Given the description of an element on the screen output the (x, y) to click on. 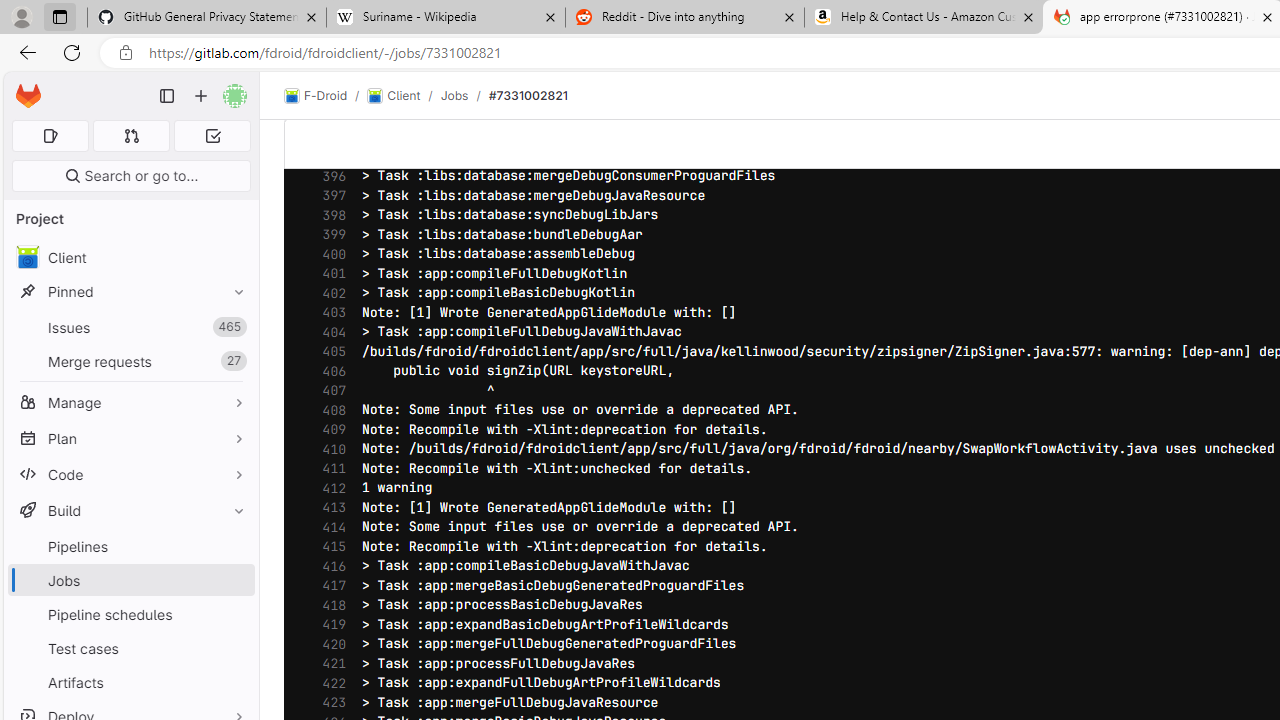
Issues 465 (130, 327)
406 (329, 371)
Create new... (201, 96)
Merge requests 0 (131, 136)
Test cases (130, 648)
421 (329, 663)
400 (329, 254)
403 (329, 313)
Plan (130, 438)
Pin Jobs (234, 580)
Merge requests 27 (130, 361)
Pinned (130, 291)
Jobs/ (464, 95)
F-Droid/ (326, 96)
